Given the description of an element on the screen output the (x, y) to click on. 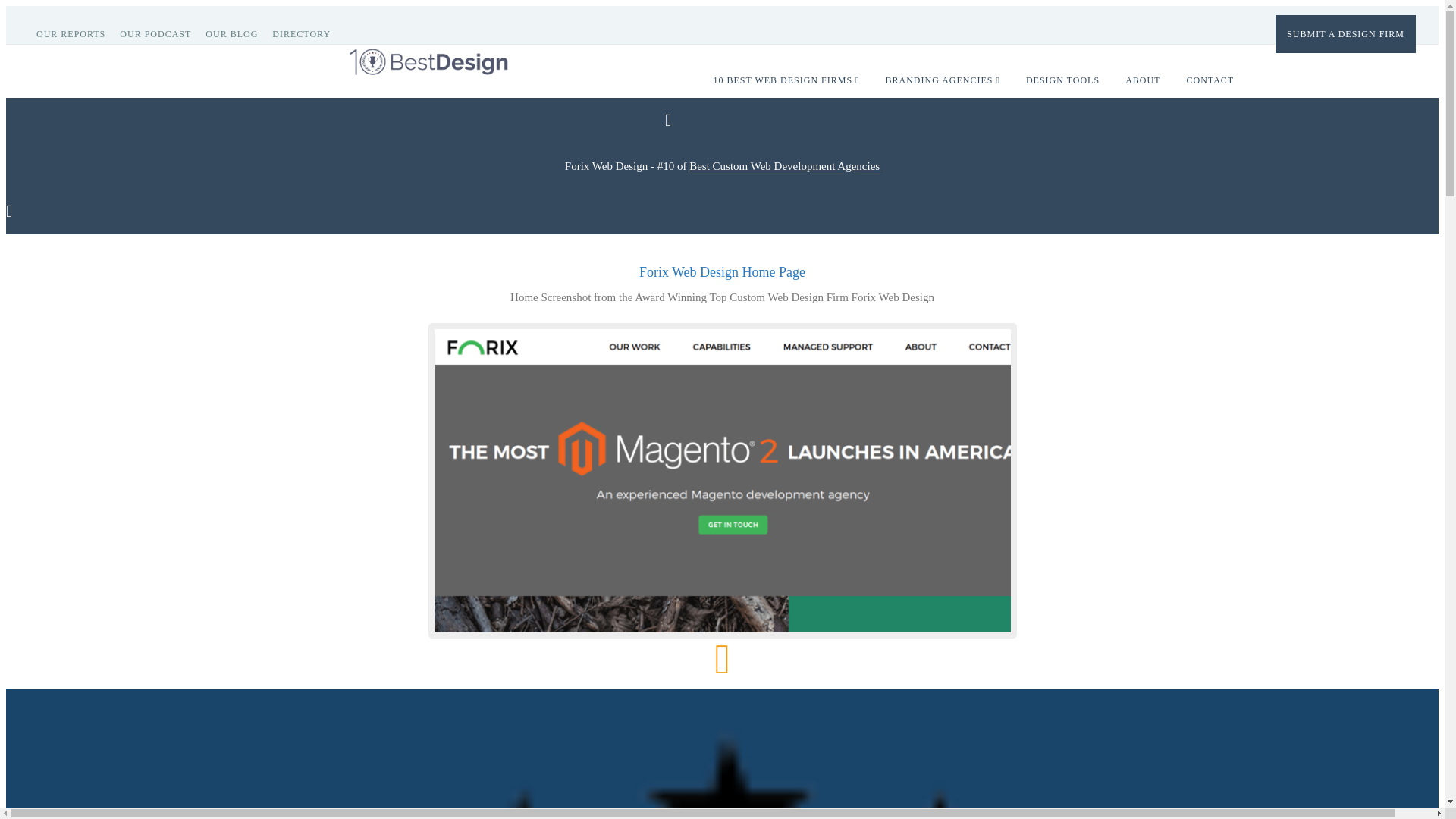
OUR BLOG (237, 33)
DIRECTORY (307, 33)
OUR PODCAST (160, 33)
OUR REPORTS (76, 33)
SUBMIT A DESIGN FIRM (1345, 33)
Best Custom Web Design Firms (783, 165)
